Given the description of an element on the screen output the (x, y) to click on. 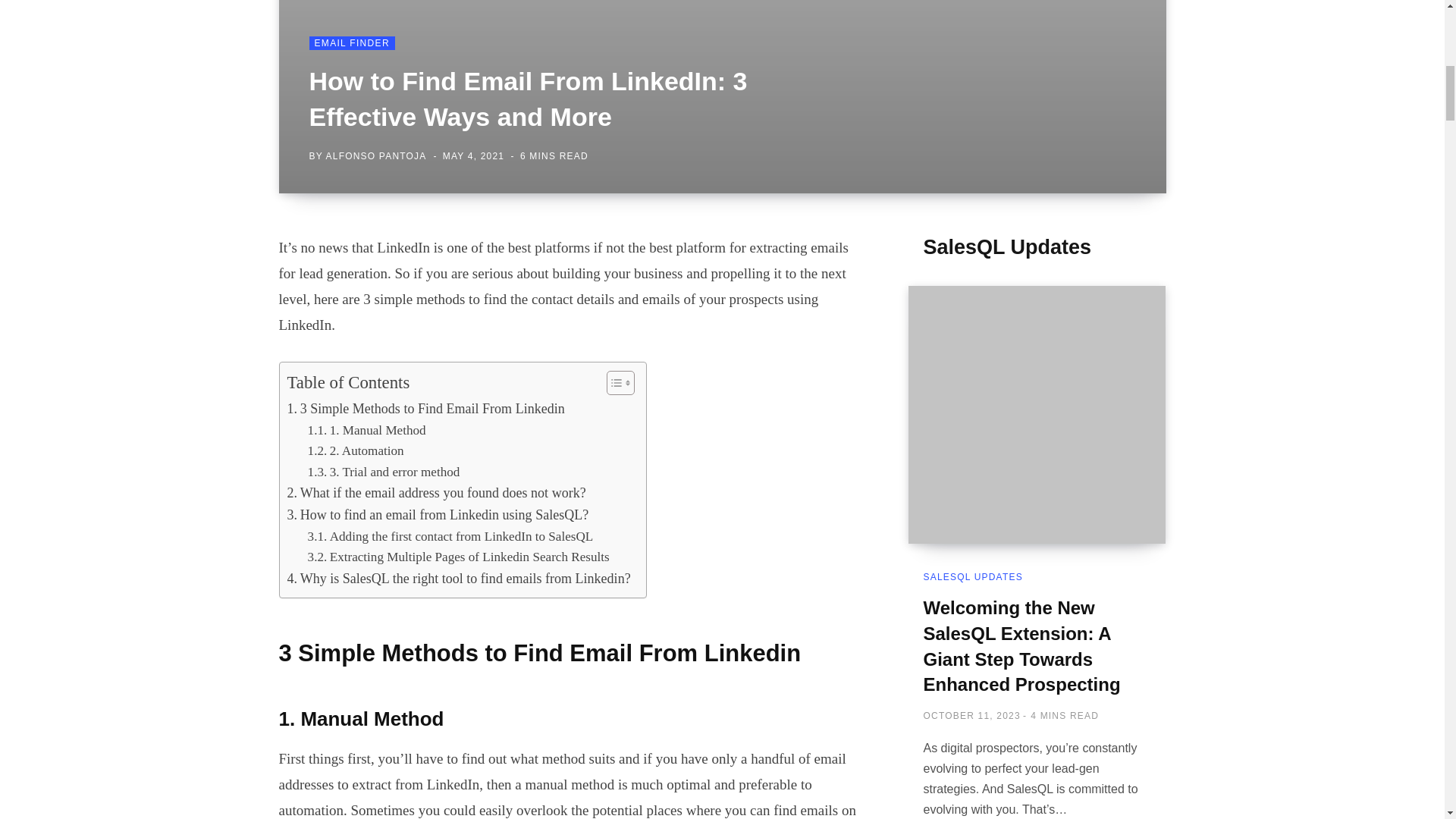
Why is SalesQL the right tool to find emails from Linkedin? (458, 578)
How to find an email from Linkedin using SalesQL? (437, 515)
1. Manual Method (366, 430)
Extracting Multiple Pages of Linkedin Search Results (458, 557)
3. Trial and error method (383, 471)
EMAIL FINDER (351, 42)
2. Automation  (357, 450)
Adding the first contact from LinkedIn to SalesQL (450, 536)
